Given the description of an element on the screen output the (x, y) to click on. 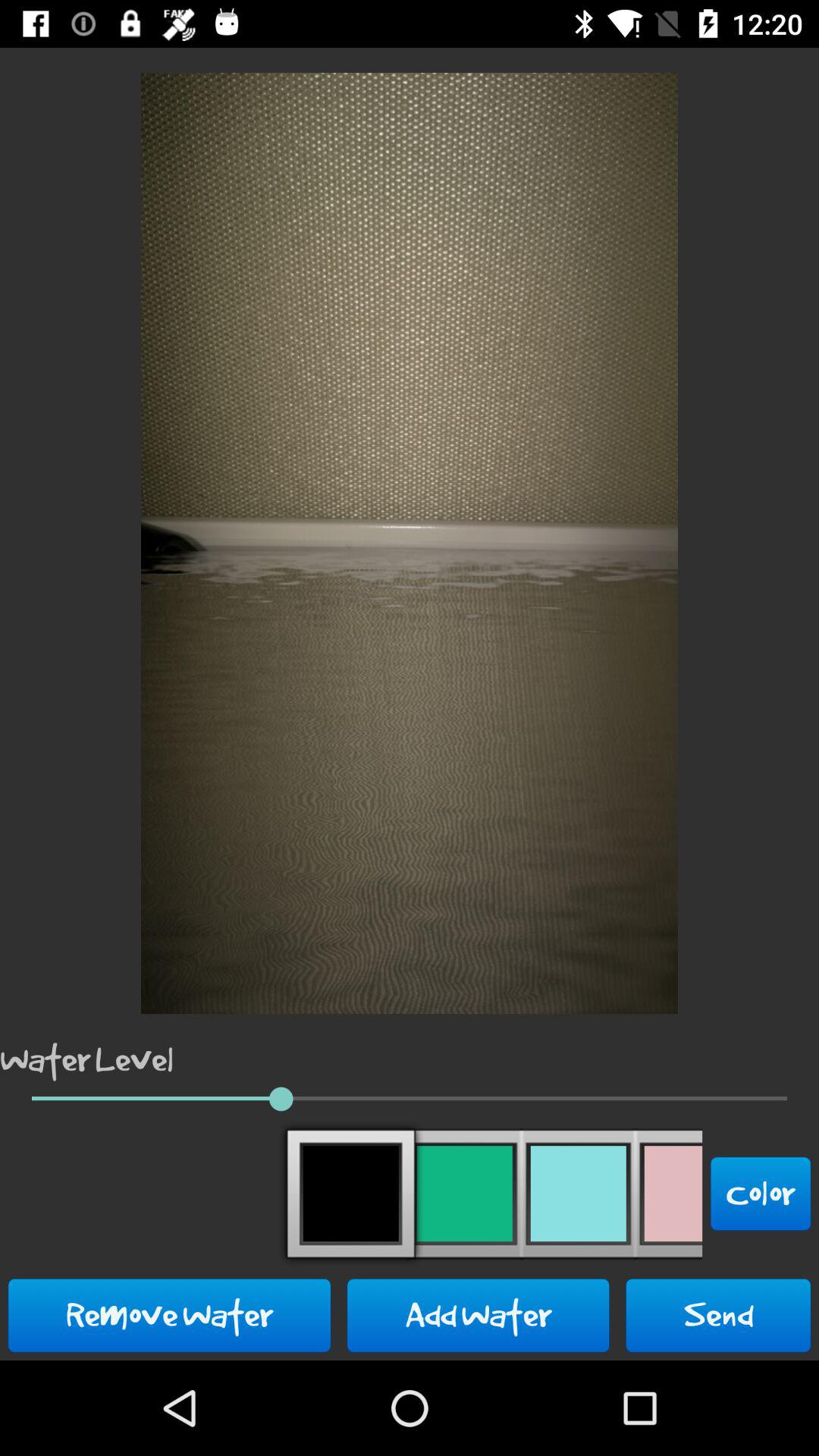
turn off the add water (477, 1315)
